Given the description of an element on the screen output the (x, y) to click on. 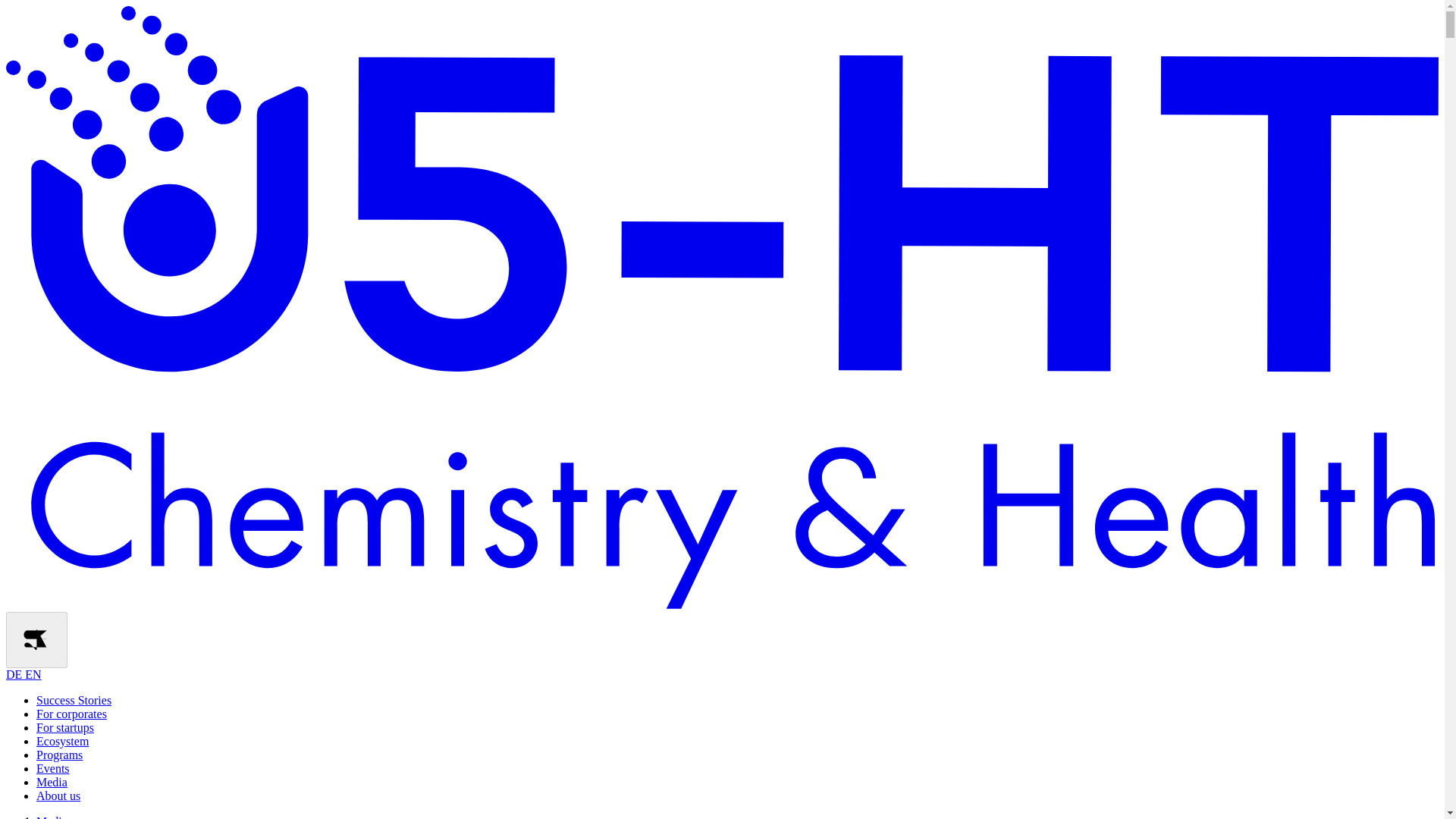
Show page in german (23, 674)
For corporates (71, 713)
For startups (65, 727)
For startups (65, 727)
Success Stories (74, 699)
For corporates (71, 713)
Ecosystem (62, 740)
DE EN (23, 674)
Programs (59, 754)
Success Stories (74, 699)
